Given the description of an element on the screen output the (x, y) to click on. 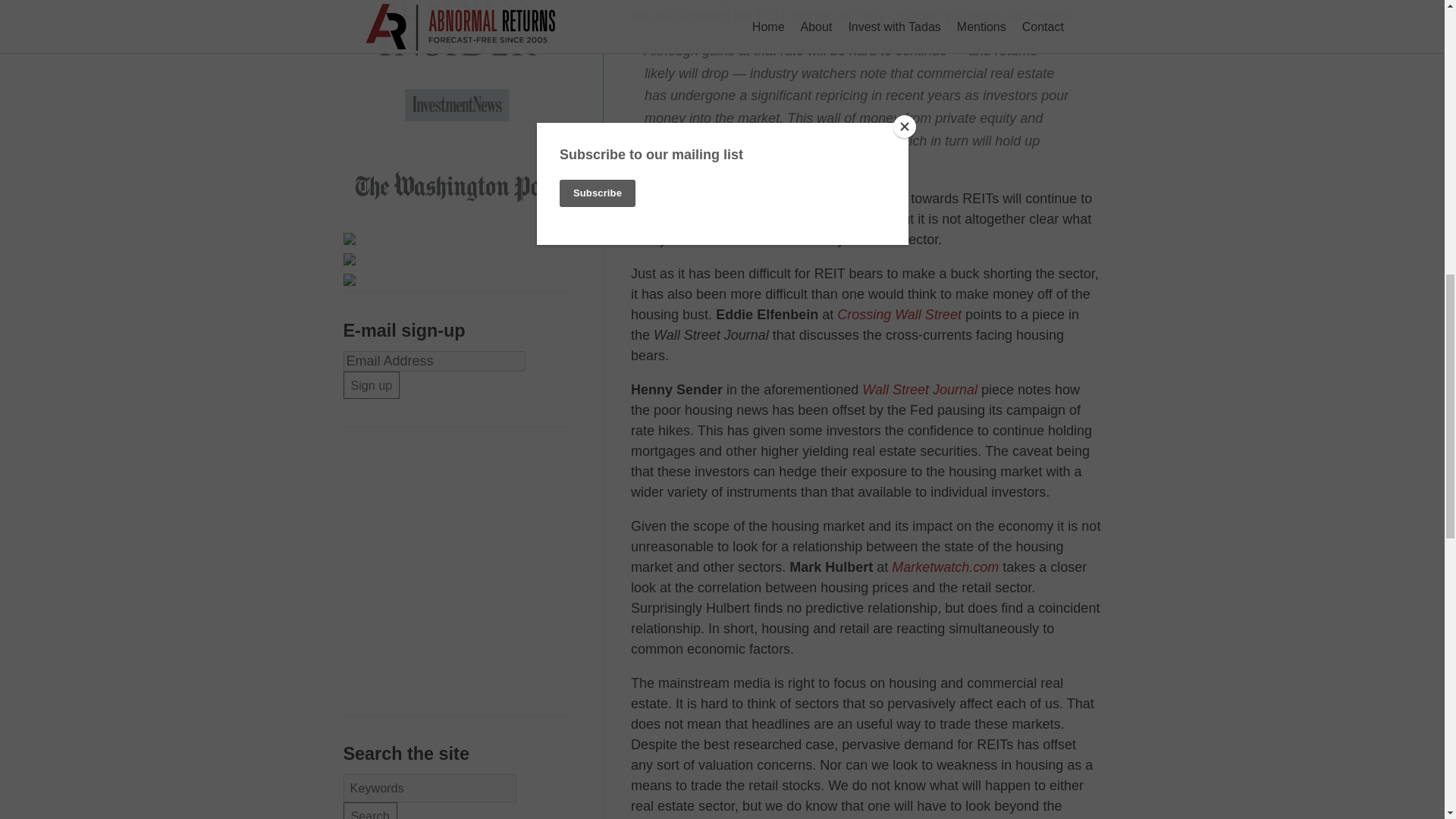
Sign up (370, 384)
Sign up (370, 384)
Wall Street Journal (918, 389)
Wall Street Journal (918, 389)
Marketwatch.com (944, 566)
Crossing Wall Street (898, 314)
Marketwatch.com (944, 566)
Search (369, 810)
Crossing Wall Street (898, 314)
Search (369, 810)
